Given the description of an element on the screen output the (x, y) to click on. 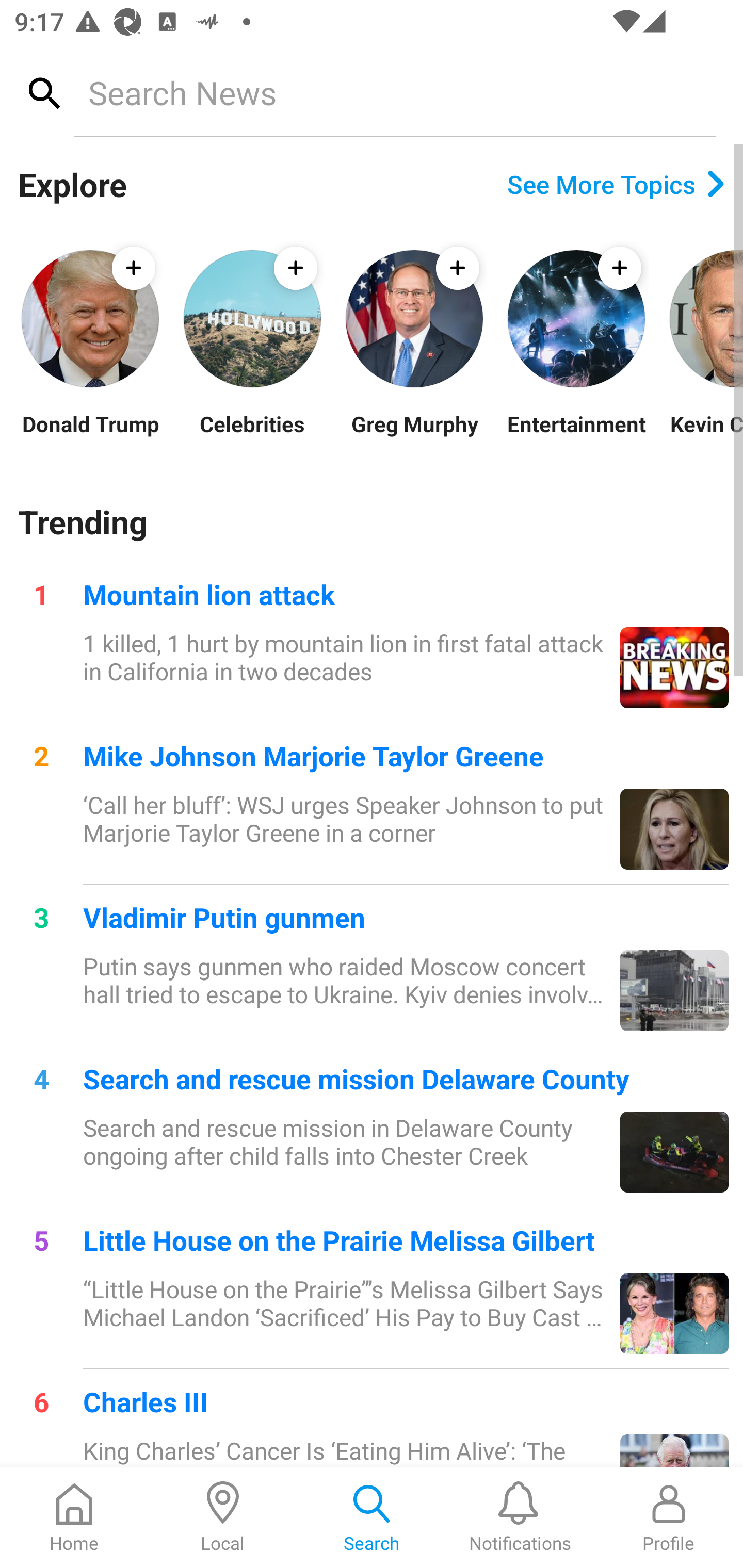
Search News (394, 92)
See More Topics (616, 183)
Donald Trump (89, 436)
Celebrities (251, 436)
Greg Murphy (413, 436)
Entertainment (575, 436)
Home (74, 1517)
Local (222, 1517)
Notifications (519, 1517)
Profile (668, 1517)
